Given the description of an element on the screen output the (x, y) to click on. 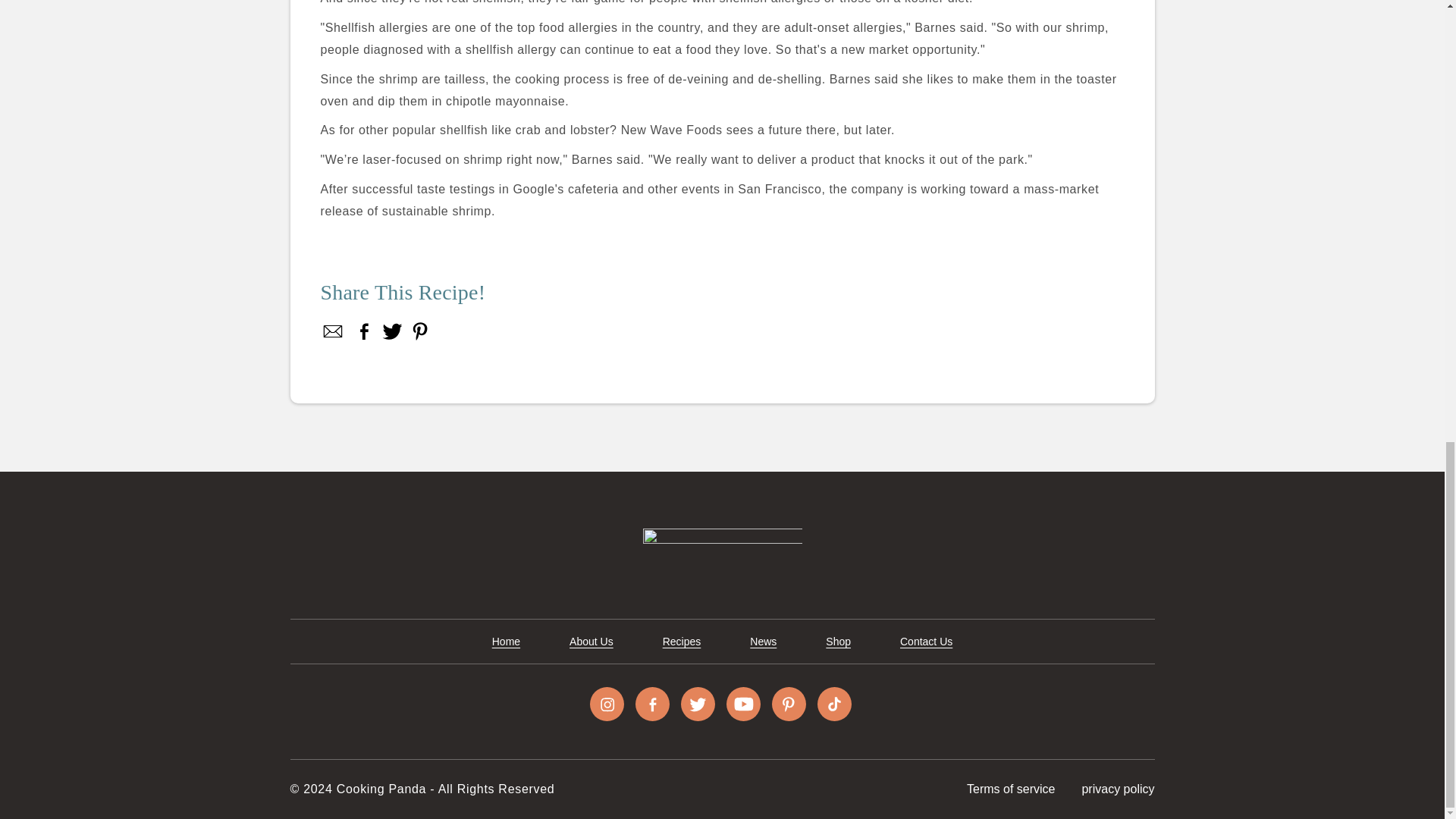
Contact Us (925, 641)
Recipes (681, 641)
News (762, 641)
About Us (590, 641)
Shop (837, 641)
Pin on Pinterest (419, 331)
Share on Facebook (363, 331)
Twitter (392, 331)
Pinterest (419, 331)
Home (505, 641)
